Given the description of an element on the screen output the (x, y) to click on. 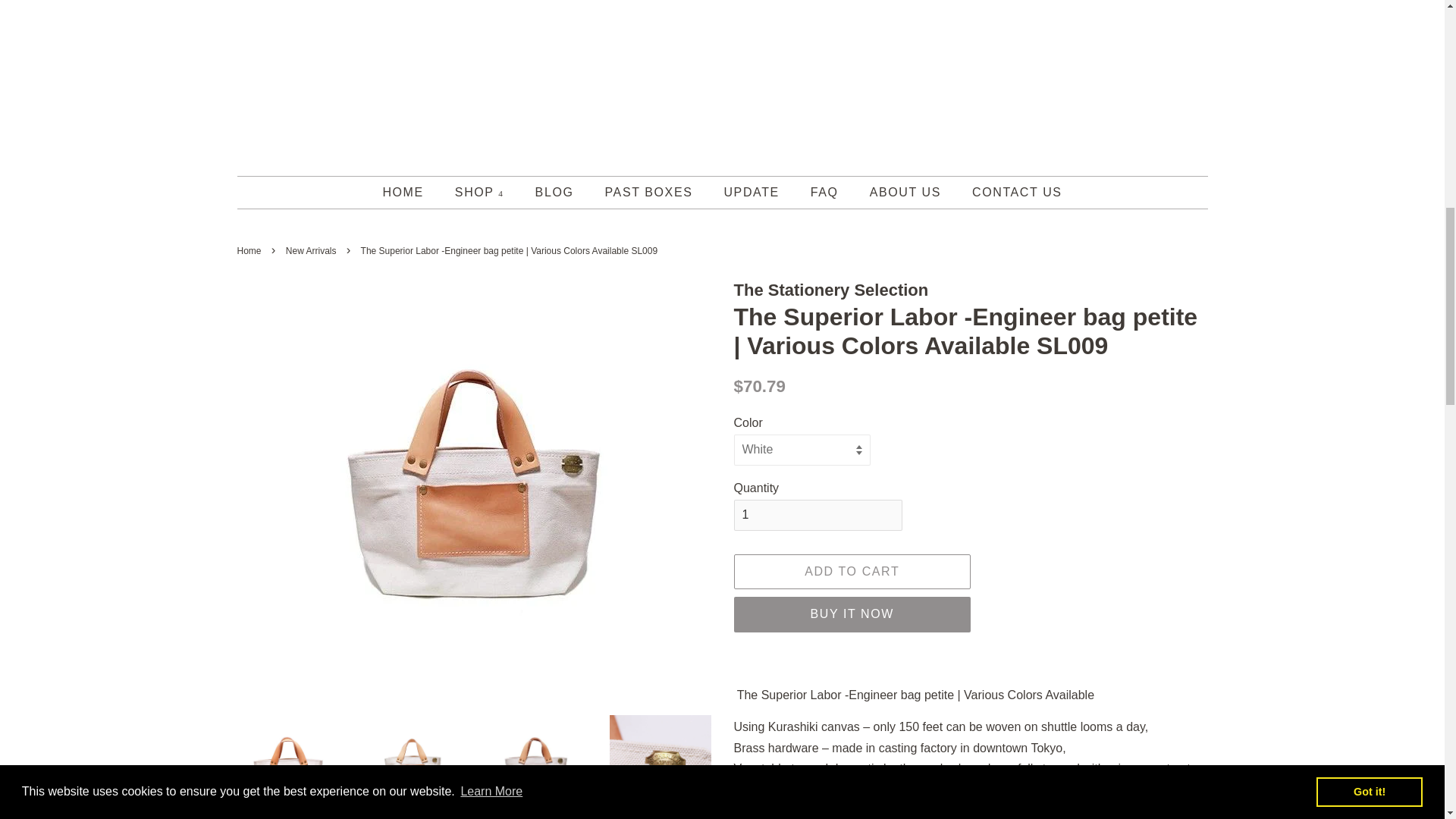
1 (817, 514)
Back to the frontpage (249, 250)
